Given the description of an element on the screen output the (x, y) to click on. 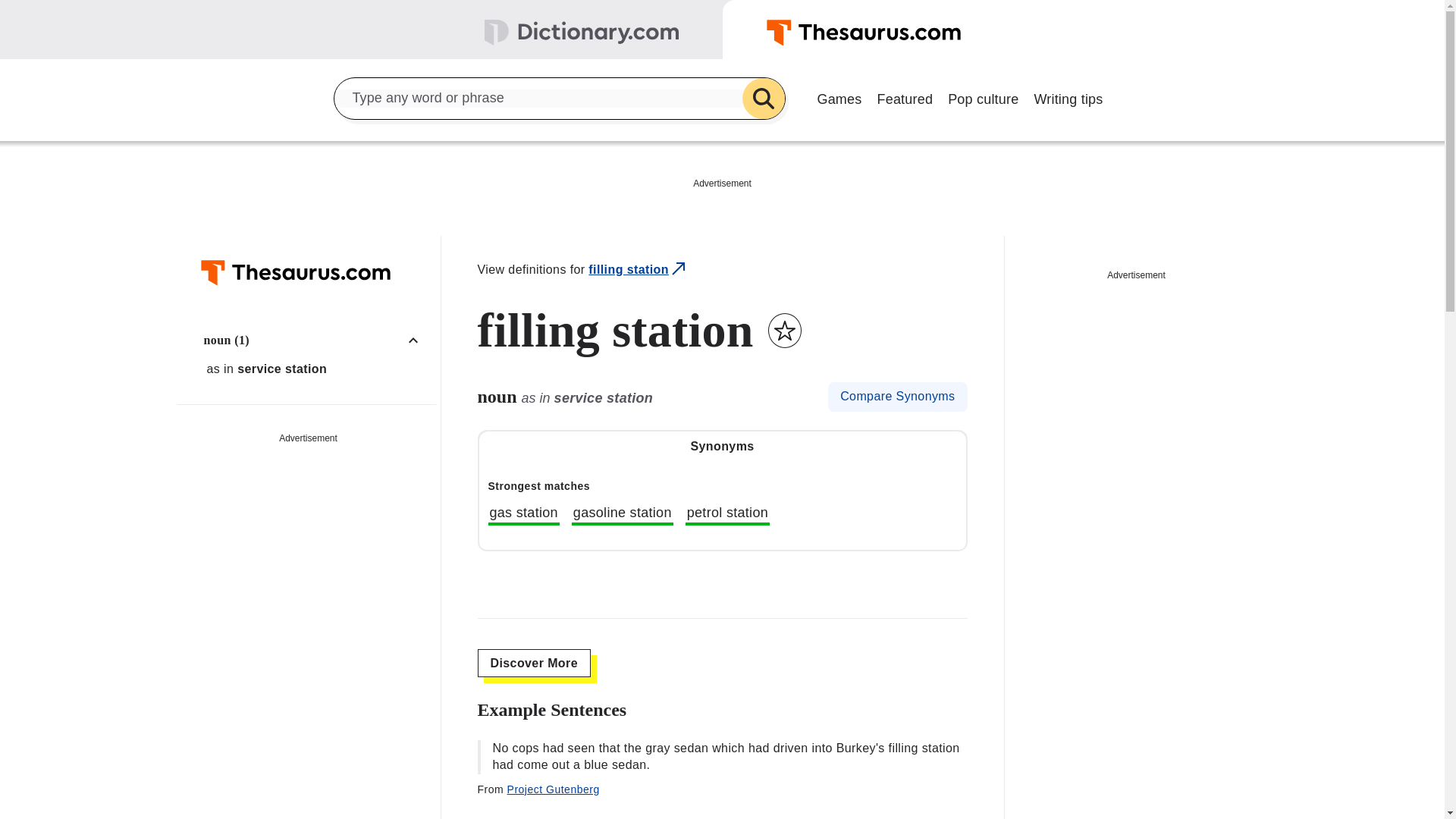
petrol station (727, 514)
filling station (638, 270)
Featured (904, 97)
Synonyms (722, 446)
Games (839, 97)
Writing tips (1067, 97)
as in service station (316, 369)
Pop culture (983, 97)
Compare Synonyms (897, 396)
gas station (523, 514)
